Given the description of an element on the screen output the (x, y) to click on. 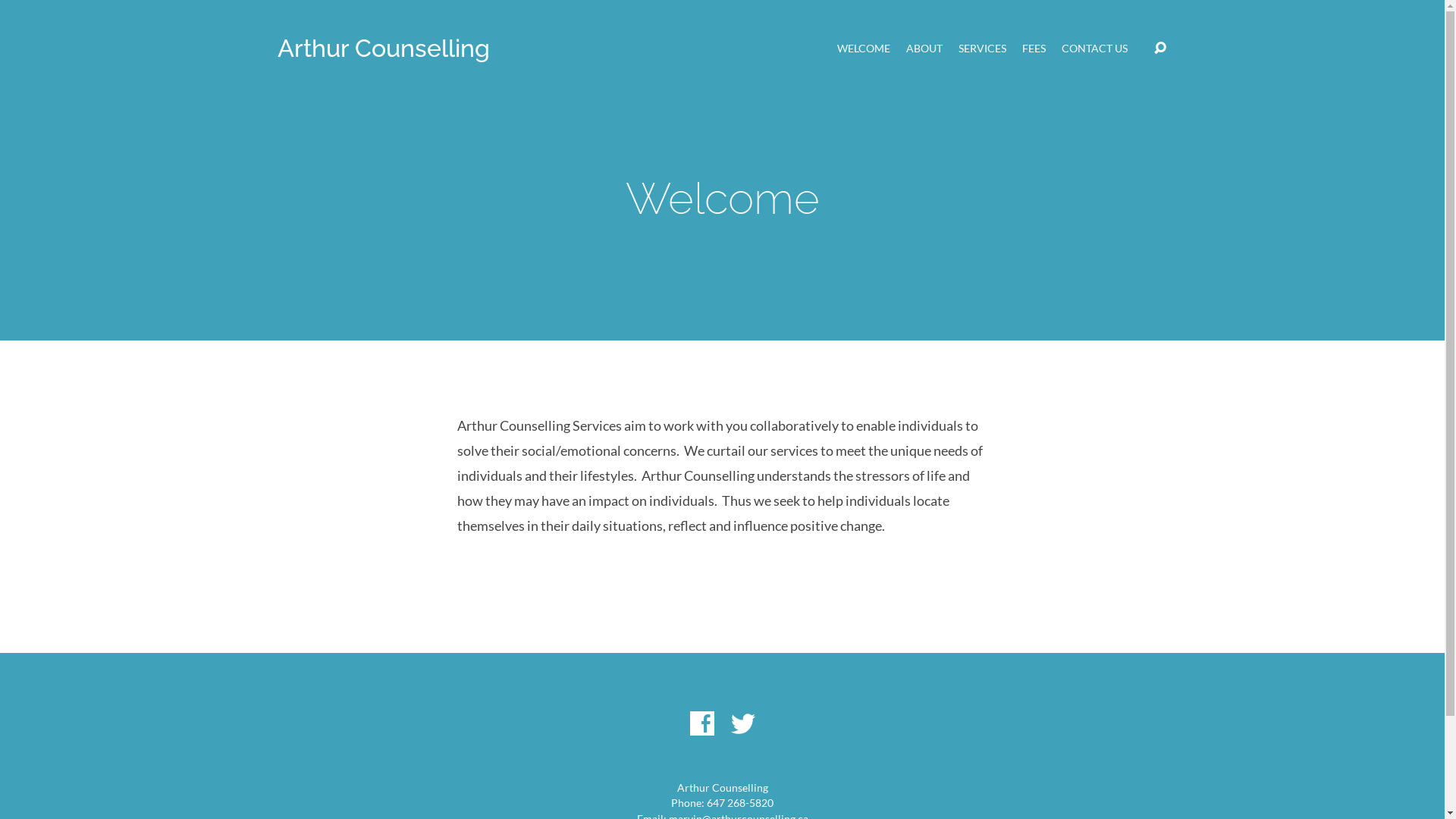
WELCOME Element type: text (863, 48)
Facebook Element type: hover (702, 723)
Arthur Counselling Element type: text (383, 48)
Twitter Element type: hover (743, 723)
SERVICES Element type: text (982, 48)
CONTACT US Element type: text (1094, 48)
FEES Element type: text (1033, 48)
ABOUT Element type: text (924, 48)
